Given the description of an element on the screen output the (x, y) to click on. 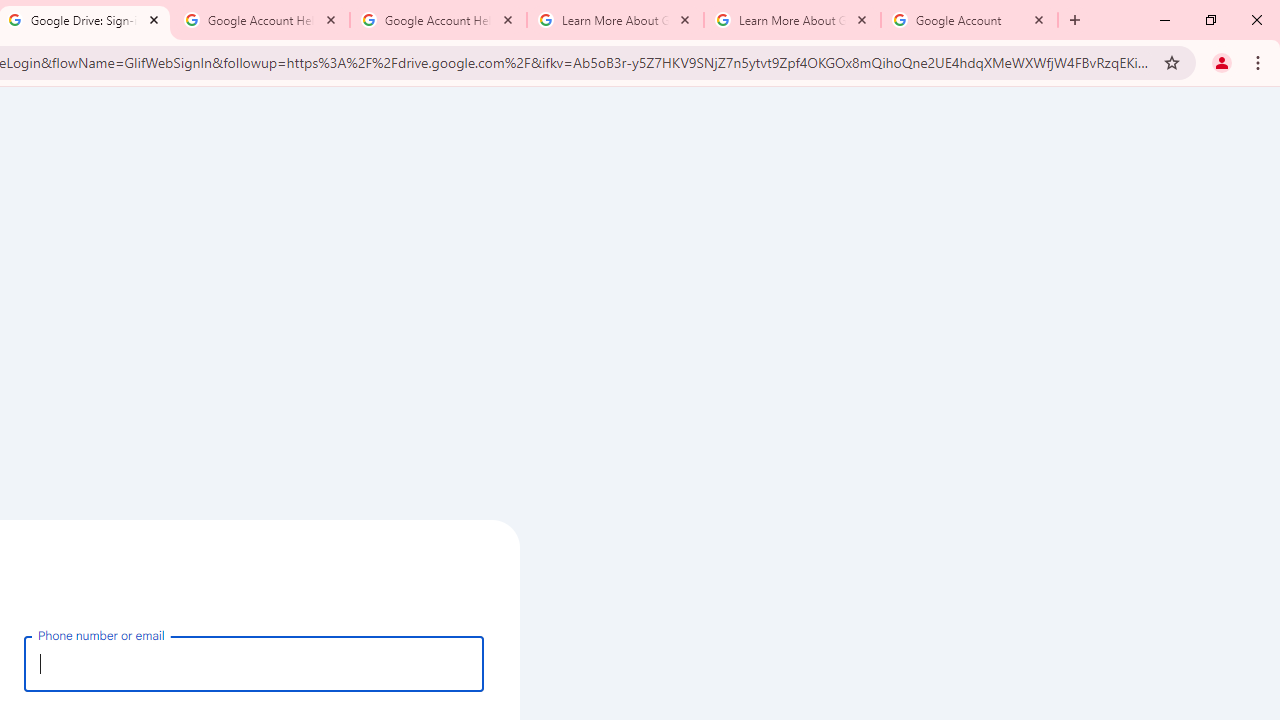
Google Account (969, 20)
Phone number or email (253, 663)
Google Account Help (438, 20)
Google Account Help (260, 20)
